Given the description of an element on the screen output the (x, y) to click on. 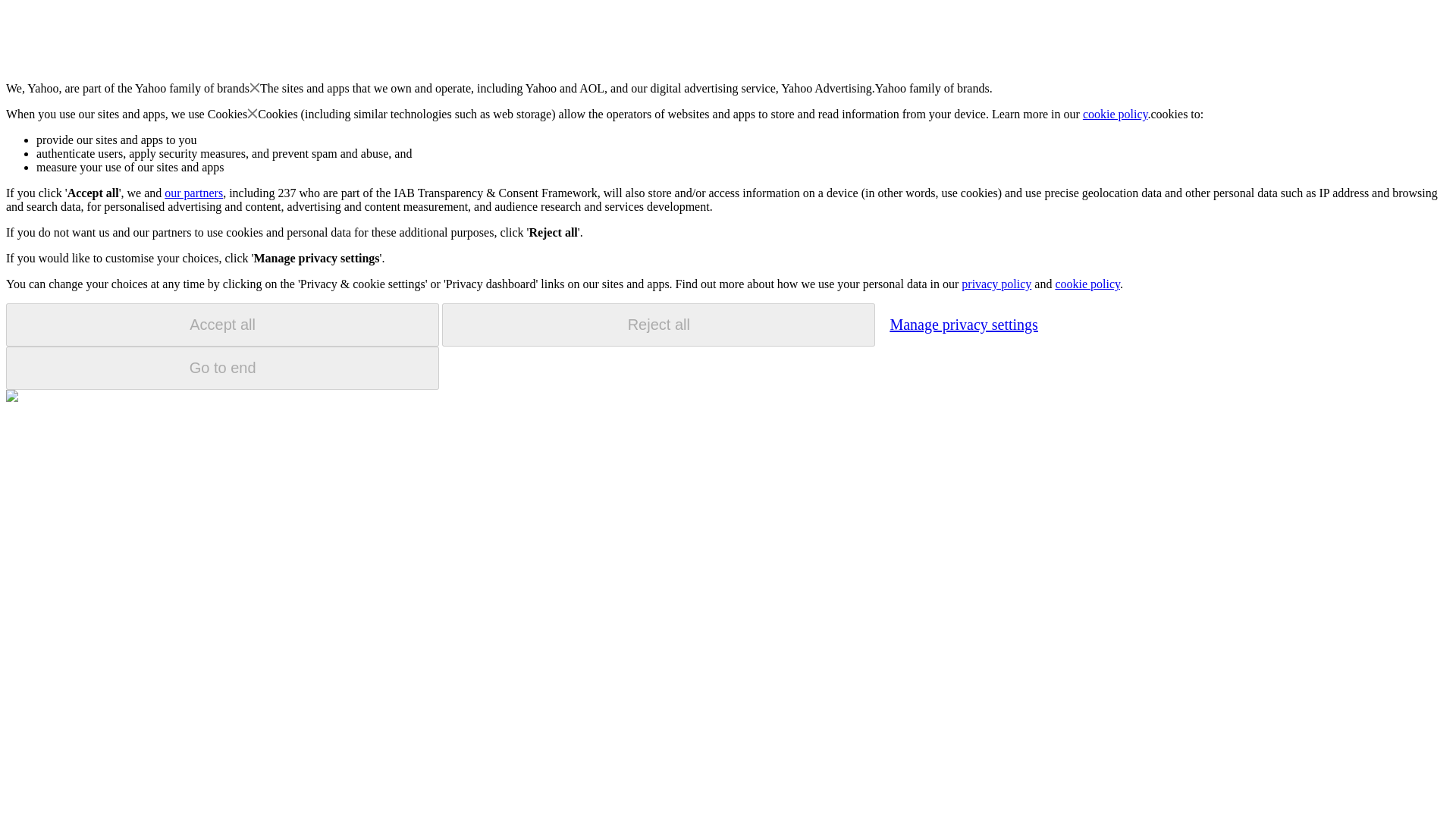
cookie policy (1115, 113)
cookie policy (1086, 283)
Go to end (222, 367)
Manage privacy settings (963, 323)
privacy policy (995, 283)
our partners (193, 192)
Reject all (658, 324)
Accept all (222, 324)
